Given the description of an element on the screen output the (x, y) to click on. 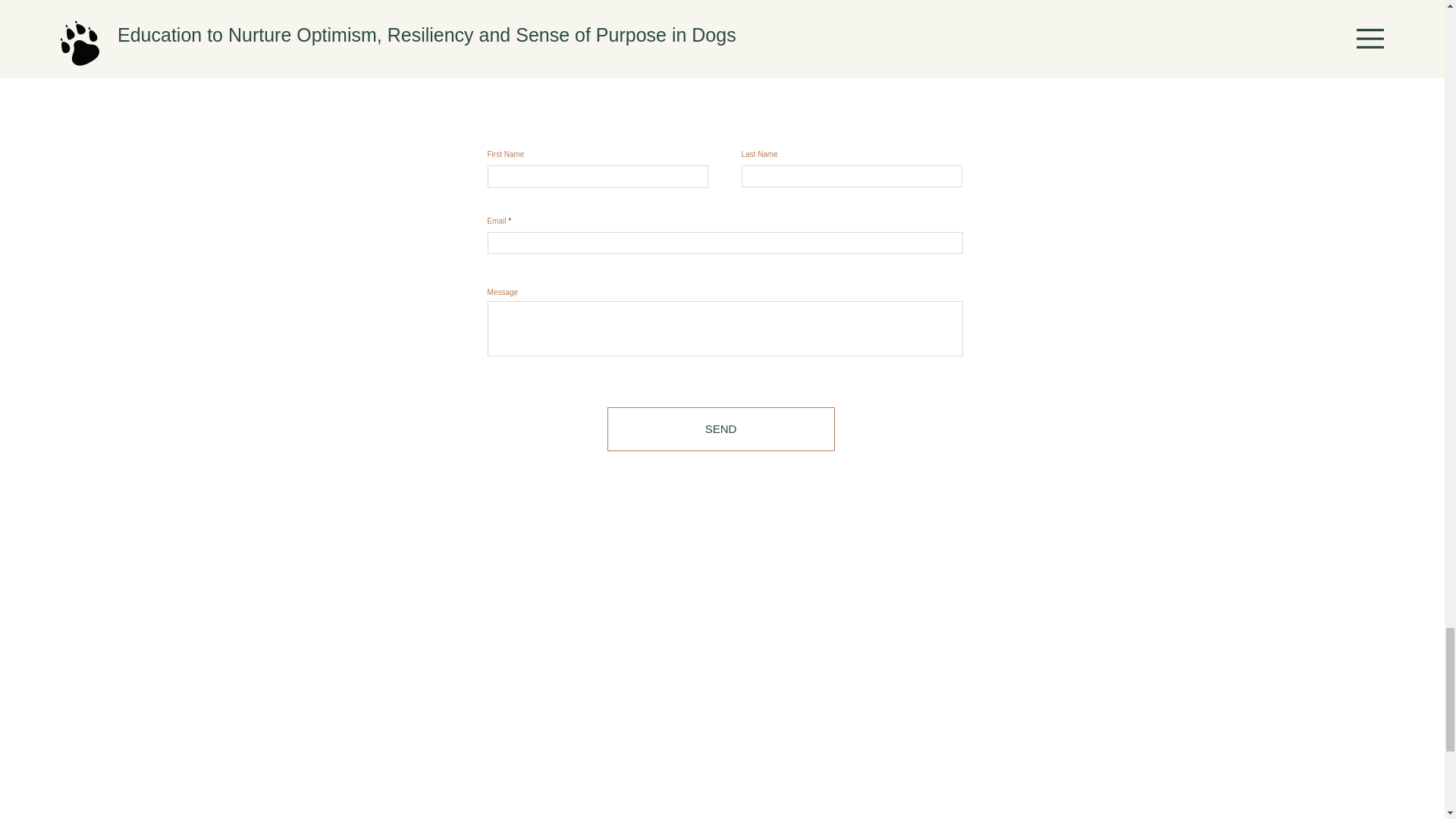
SEND (720, 429)
